Given the description of an element on the screen output the (x, y) to click on. 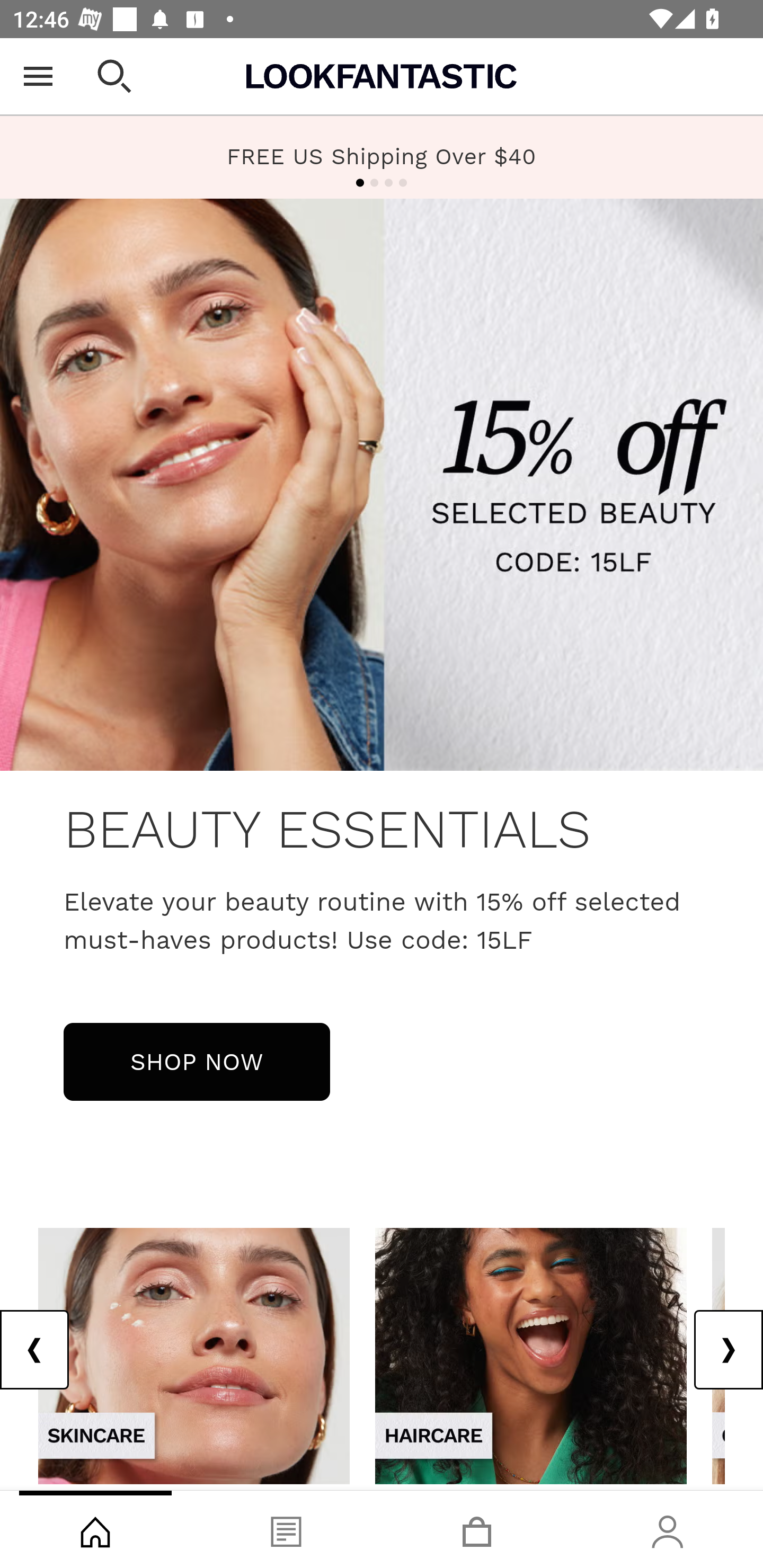
Open Menu (38, 75)
Open search (114, 75)
Lookfantastic USA (381, 75)
FREE US Shipping Over $40 (381, 157)
FREE US Shipping Over $40 (381, 155)
SHOP NOW (196, 1061)
view-all (193, 1355)
view-all (530, 1355)
Previous (35, 1349)
Next (727, 1349)
Shop, tab, 1 of 4 (95, 1529)
Blog, tab, 2 of 4 (285, 1529)
Basket, tab, 3 of 4 (476, 1529)
Account, tab, 4 of 4 (667, 1529)
